Given the description of an element on the screen output the (x, y) to click on. 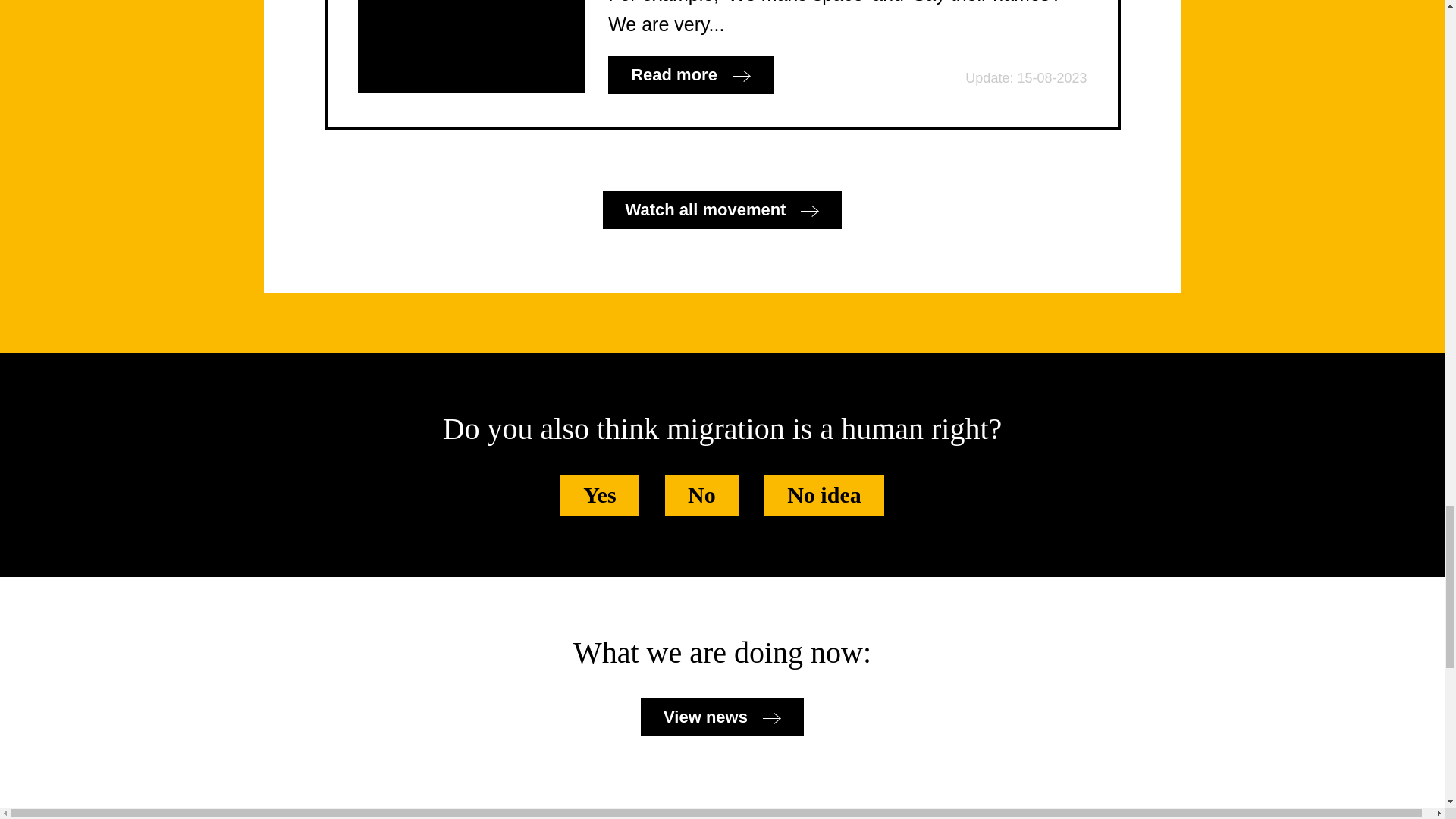
Read more (690, 75)
No idea (823, 495)
Yes (599, 495)
View news (721, 717)
No (701, 495)
Watch all movement (722, 209)
